Given the description of an element on the screen output the (x, y) to click on. 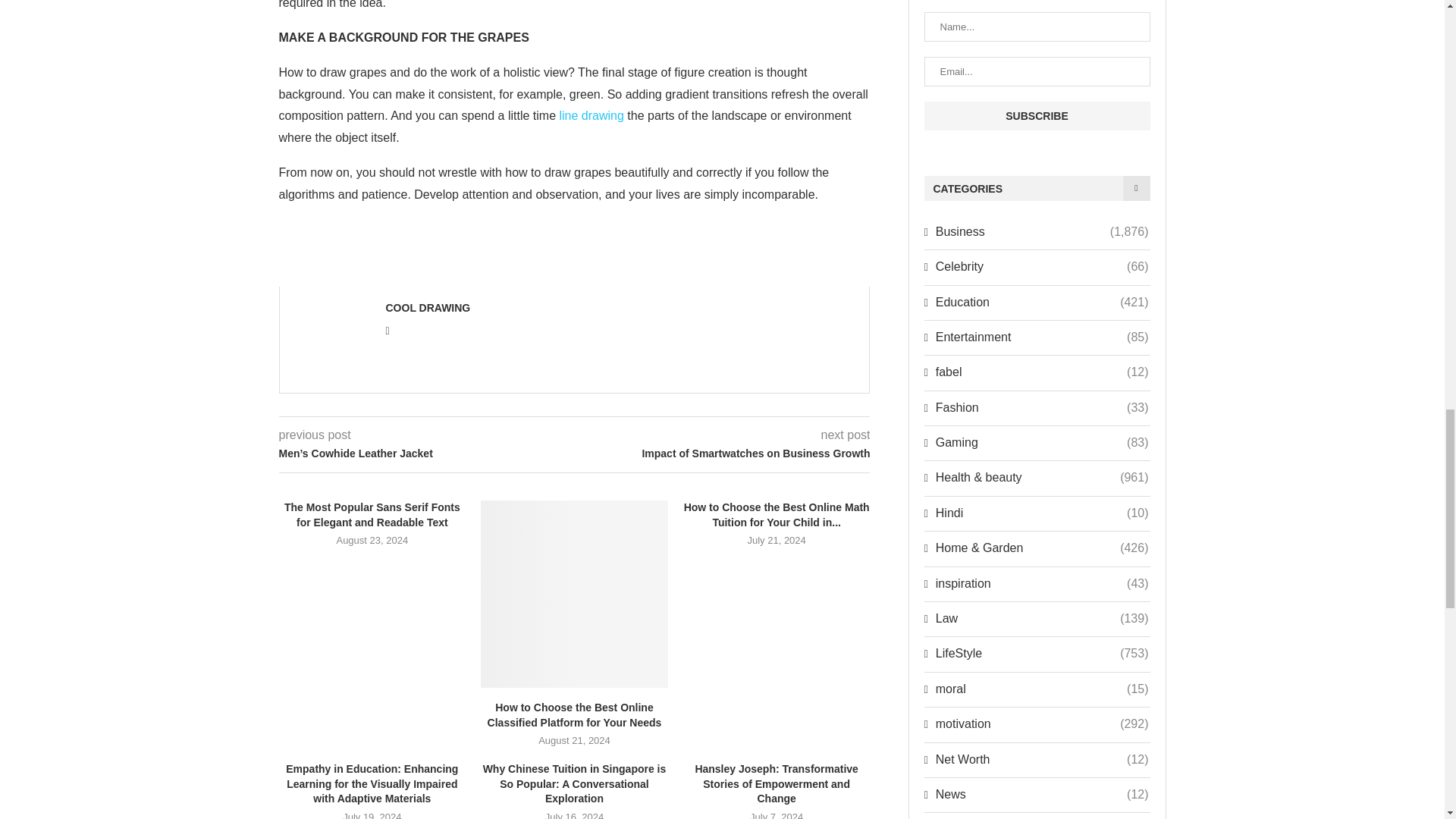
Impact of Smartwatches on Business Growth (722, 453)
Subscribe (1036, 115)
Author cool drawing (427, 307)
line drawing (591, 115)
COOL DRAWING (427, 307)
